Given the description of an element on the screen output the (x, y) to click on. 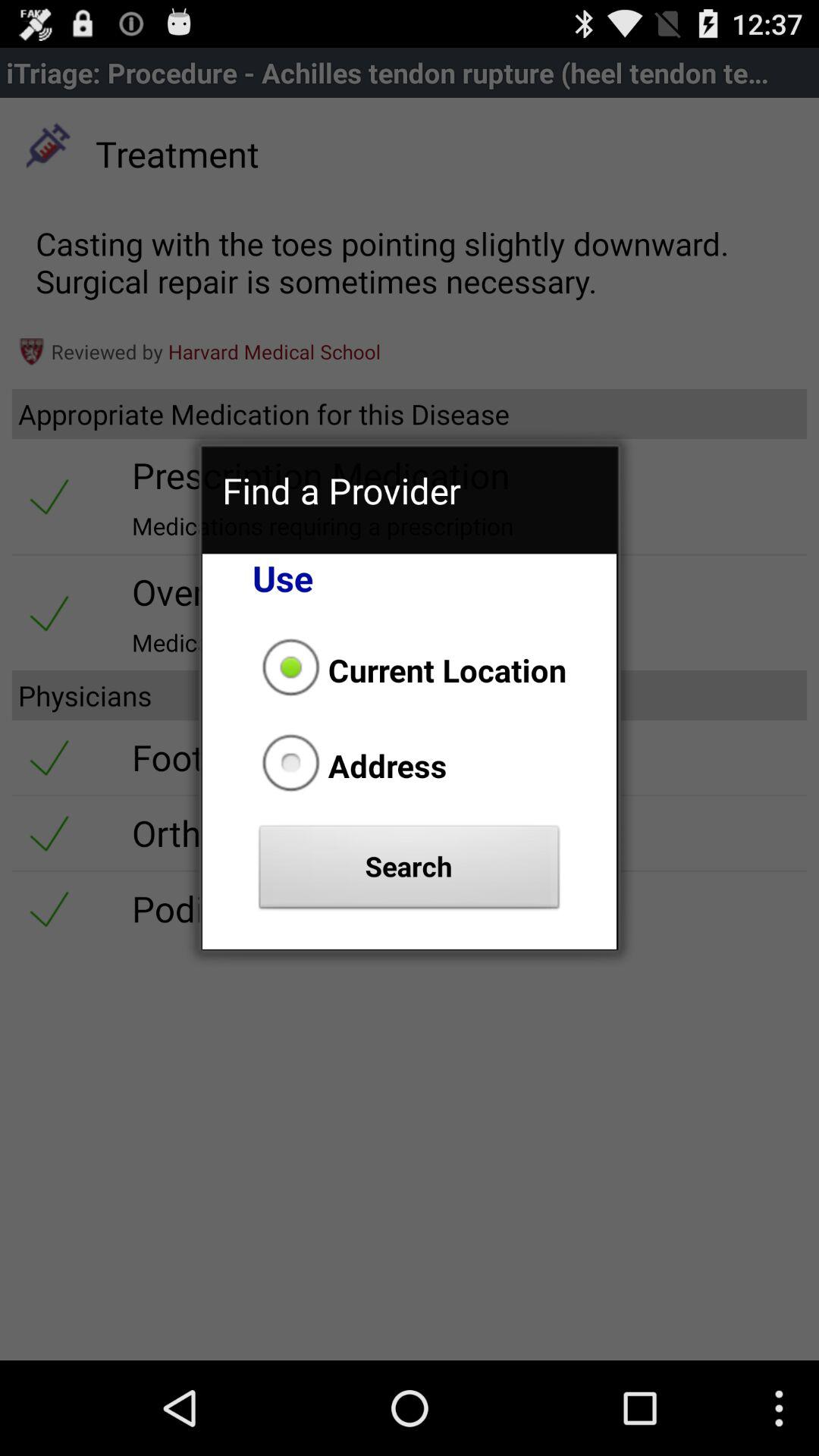
choose the search button (409, 871)
